Given the description of an element on the screen output the (x, y) to click on. 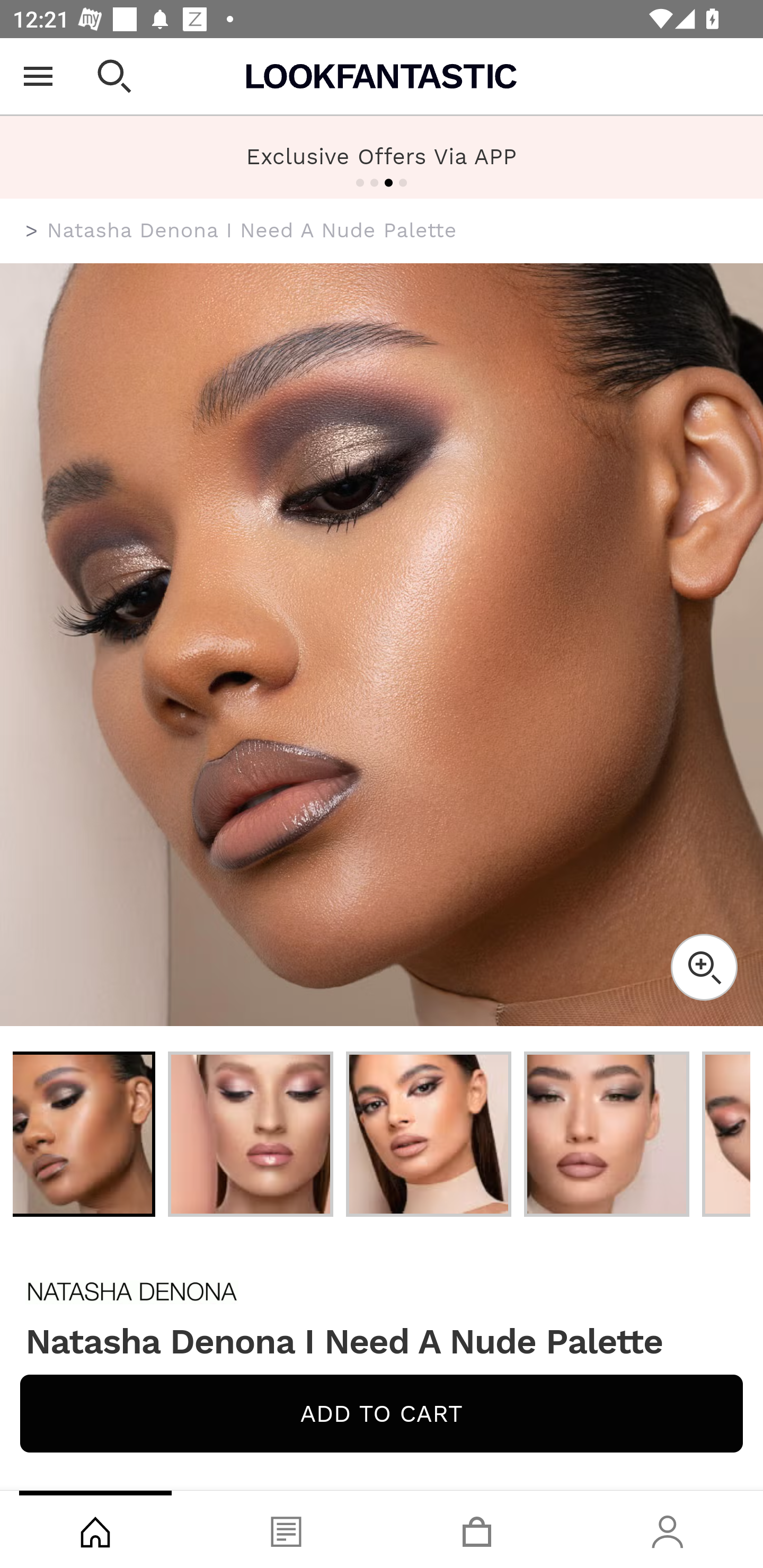
Open Menu (38, 75)
Open search (114, 75)
Lookfantastic USA (381, 75)
us.lookfantastic (32, 230)
Zoom (703, 966)
Natasha Denona (381, 1291)
Add to cart (381, 1413)
Shop, tab, 1 of 4 (95, 1529)
Blog, tab, 2 of 4 (285, 1529)
Basket, tab, 3 of 4 (476, 1529)
Account, tab, 4 of 4 (667, 1529)
